Given the description of an element on the screen output the (x, y) to click on. 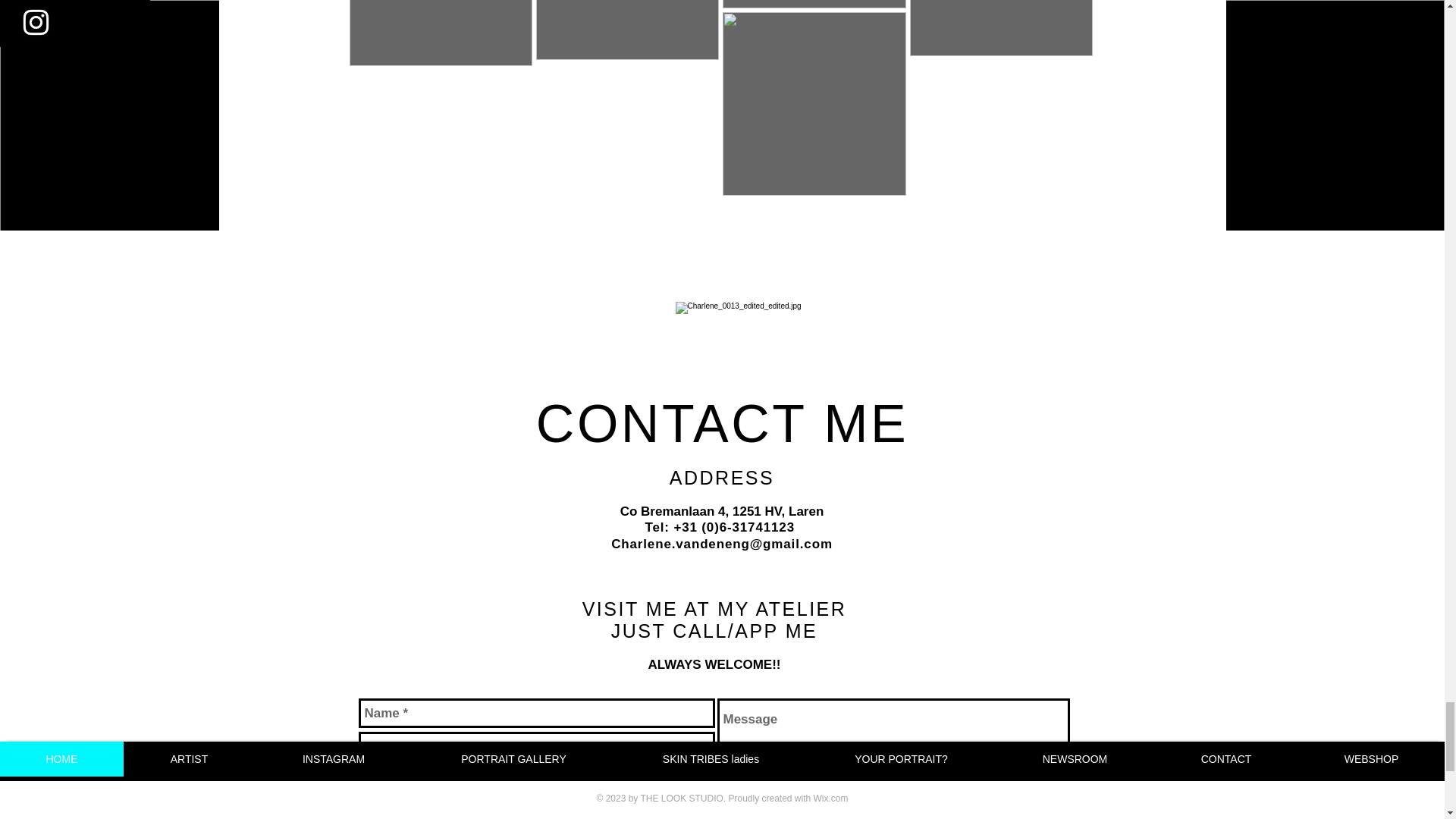
Send (1055, 808)
